Given the description of an element on the screen output the (x, y) to click on. 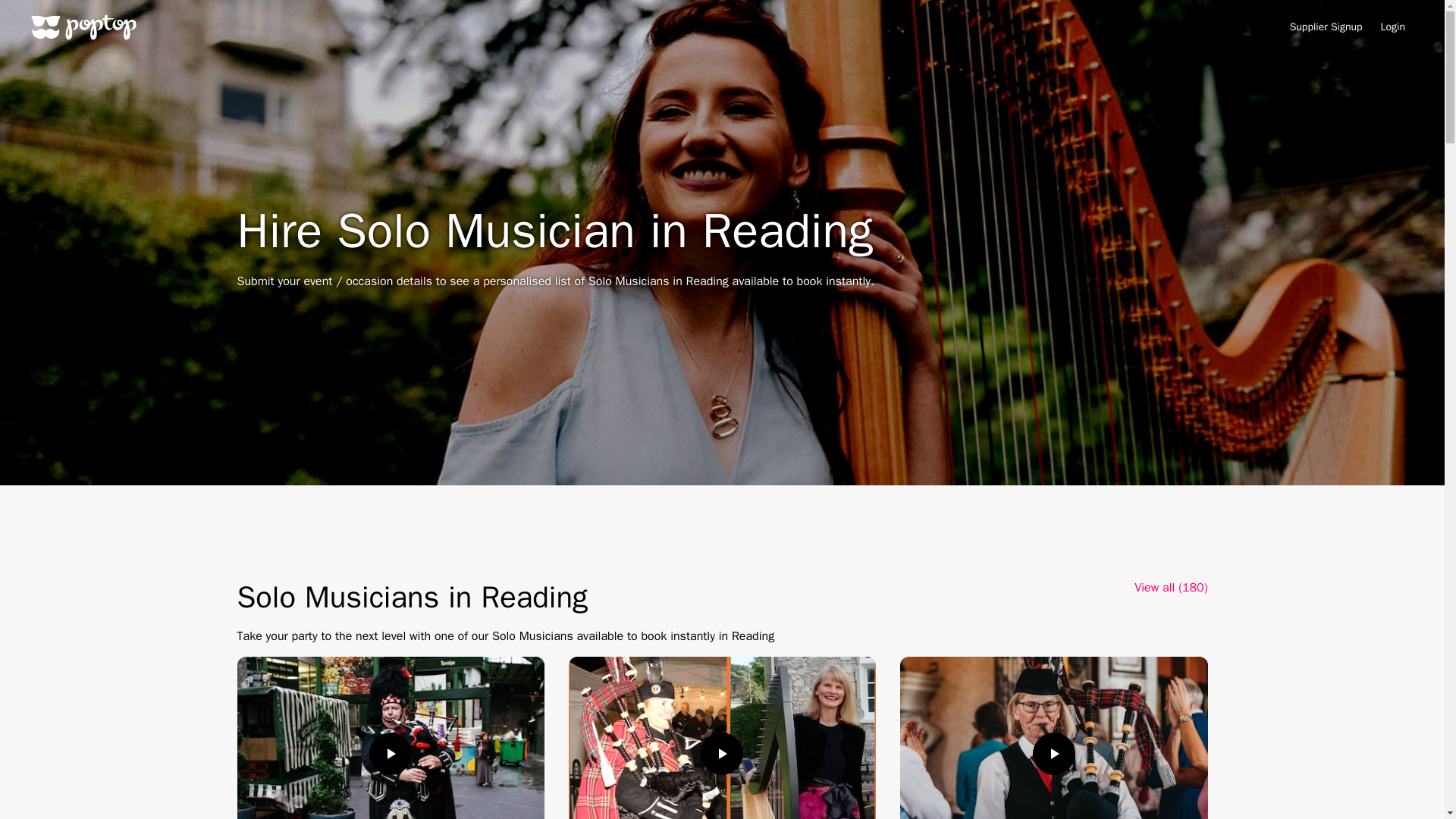
Supplier Signup (1326, 26)
Login (1392, 26)
